Given the description of an element on the screen output the (x, y) to click on. 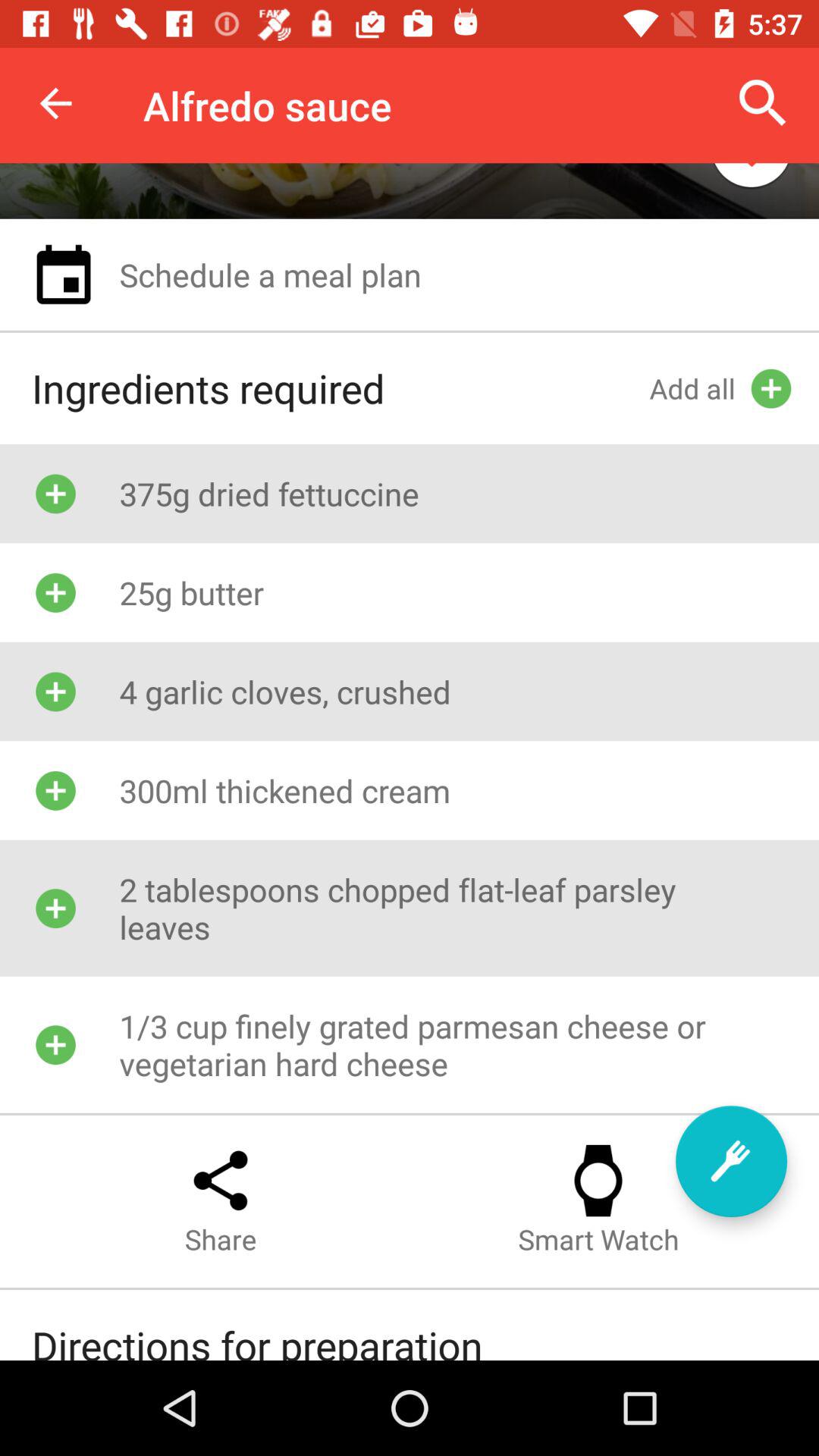
choose the item next to the alfredo sauce (55, 103)
